Given the description of an element on the screen output the (x, y) to click on. 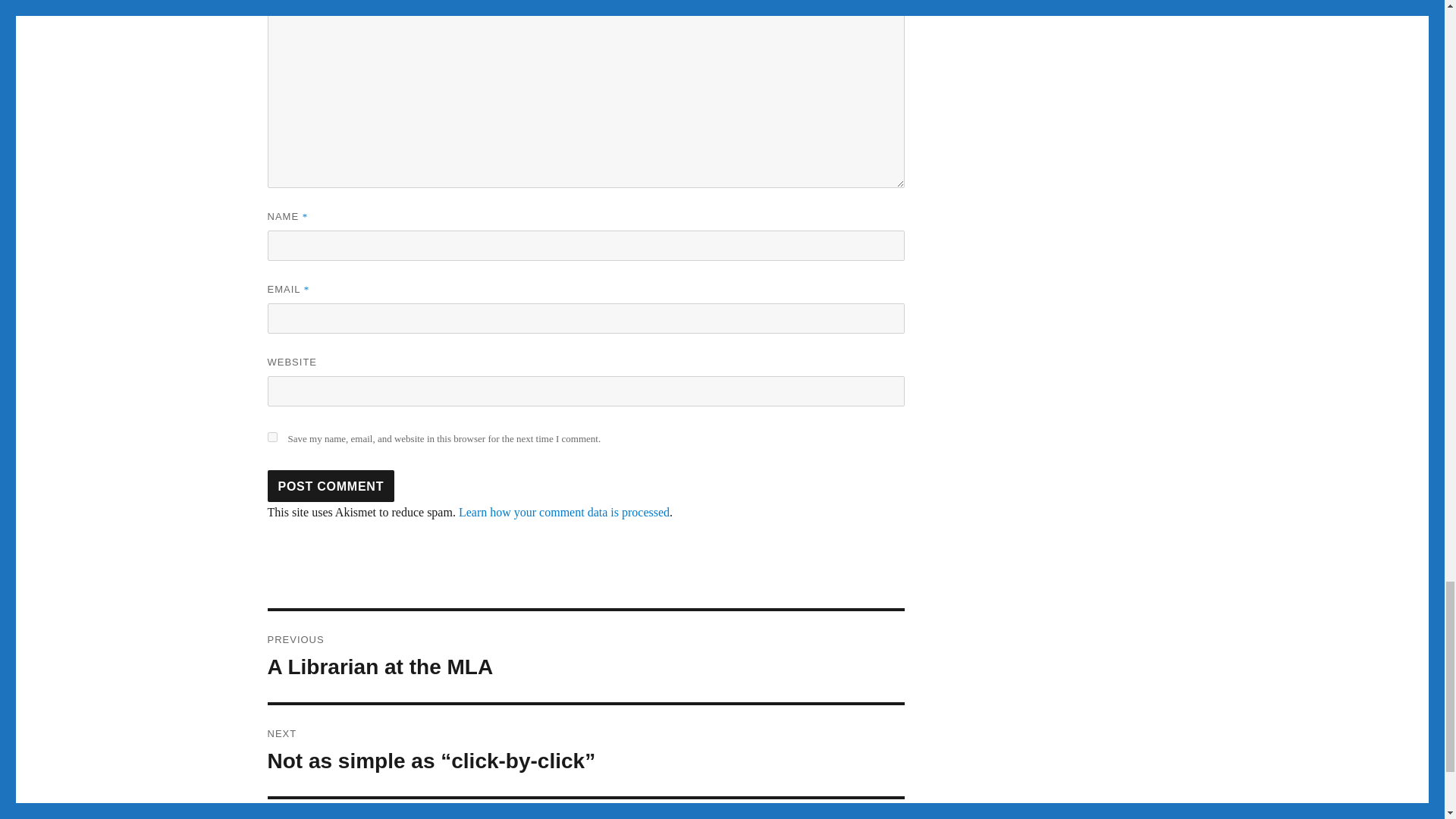
Learn how your comment data is processed (563, 512)
yes (271, 437)
Post Comment (330, 486)
Post Comment (330, 486)
